Given the description of an element on the screen output the (x, y) to click on. 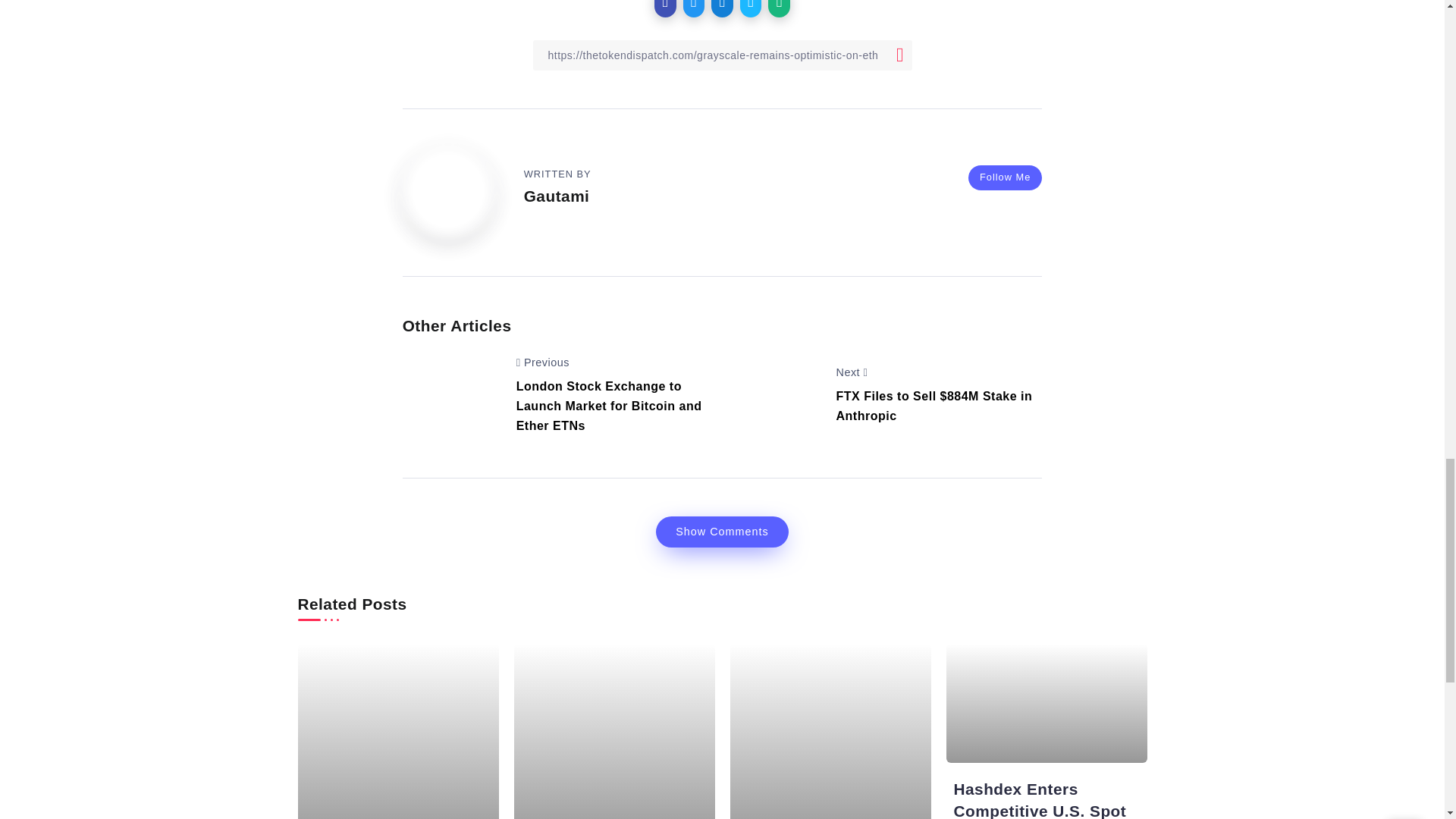
Grayscale Remains Optimistic on Ether ETF Approvals (455, 393)
Grayscale Remains Optimistic on Ether ETF Approvals (775, 393)
